Given the description of an element on the screen output the (x, y) to click on. 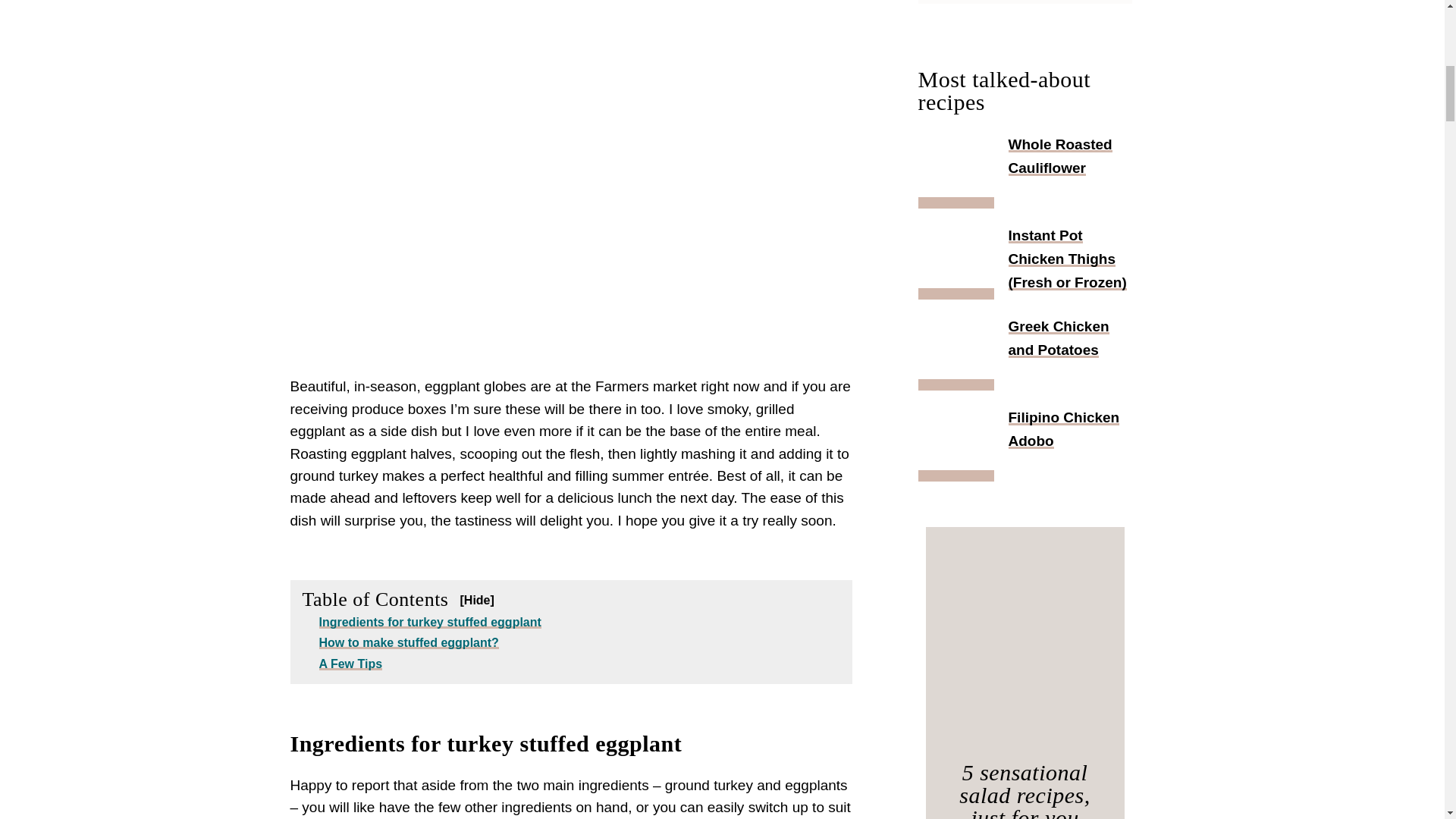
Ingredients for turkey stuffed eggplant (429, 621)
How to make stuffed eggplant? (407, 642)
collapse (476, 600)
A Few Tips (349, 663)
